Given the description of an element on the screen output the (x, y) to click on. 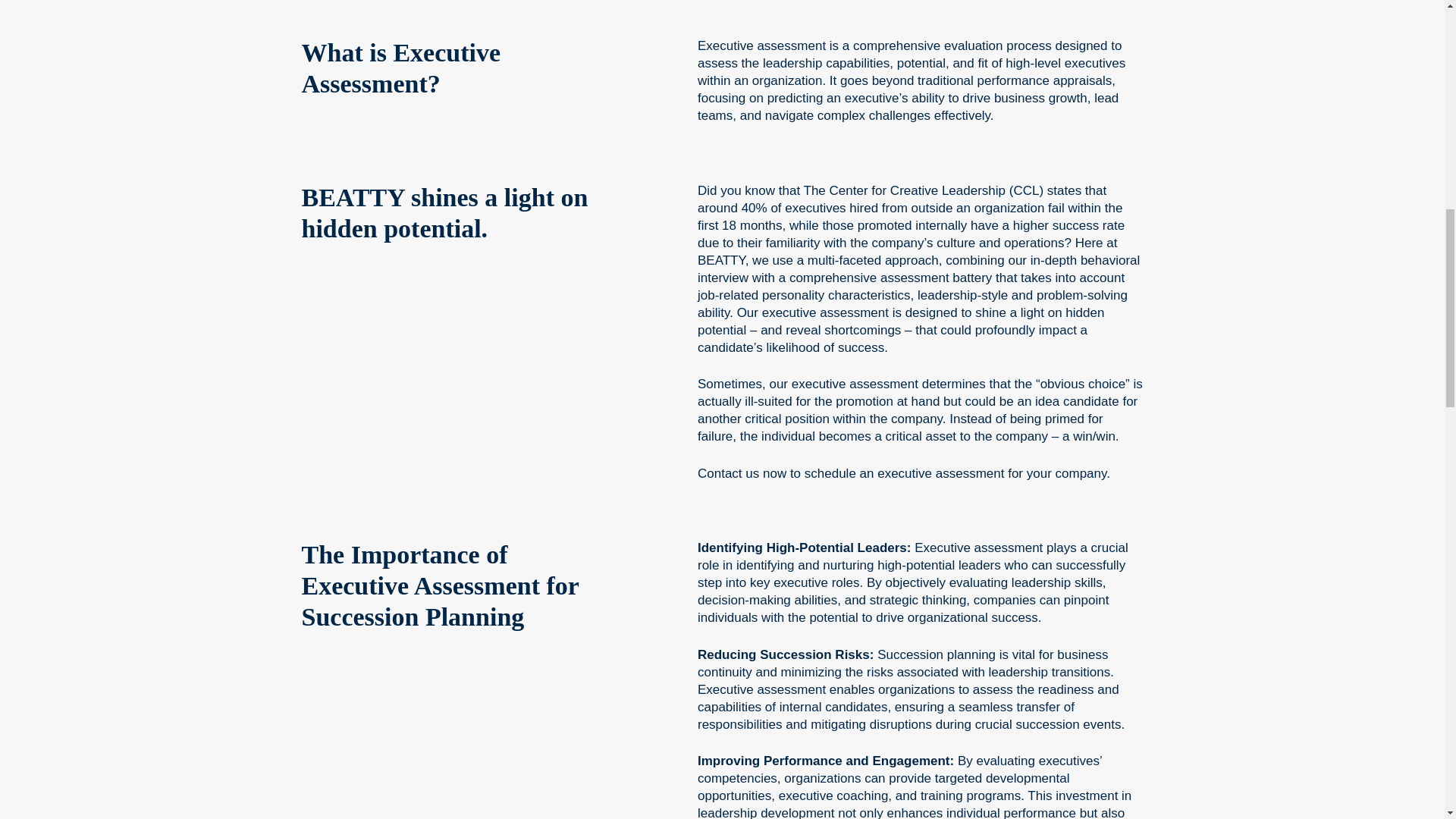
Succession planning (936, 654)
